Given the description of an element on the screen output the (x, y) to click on. 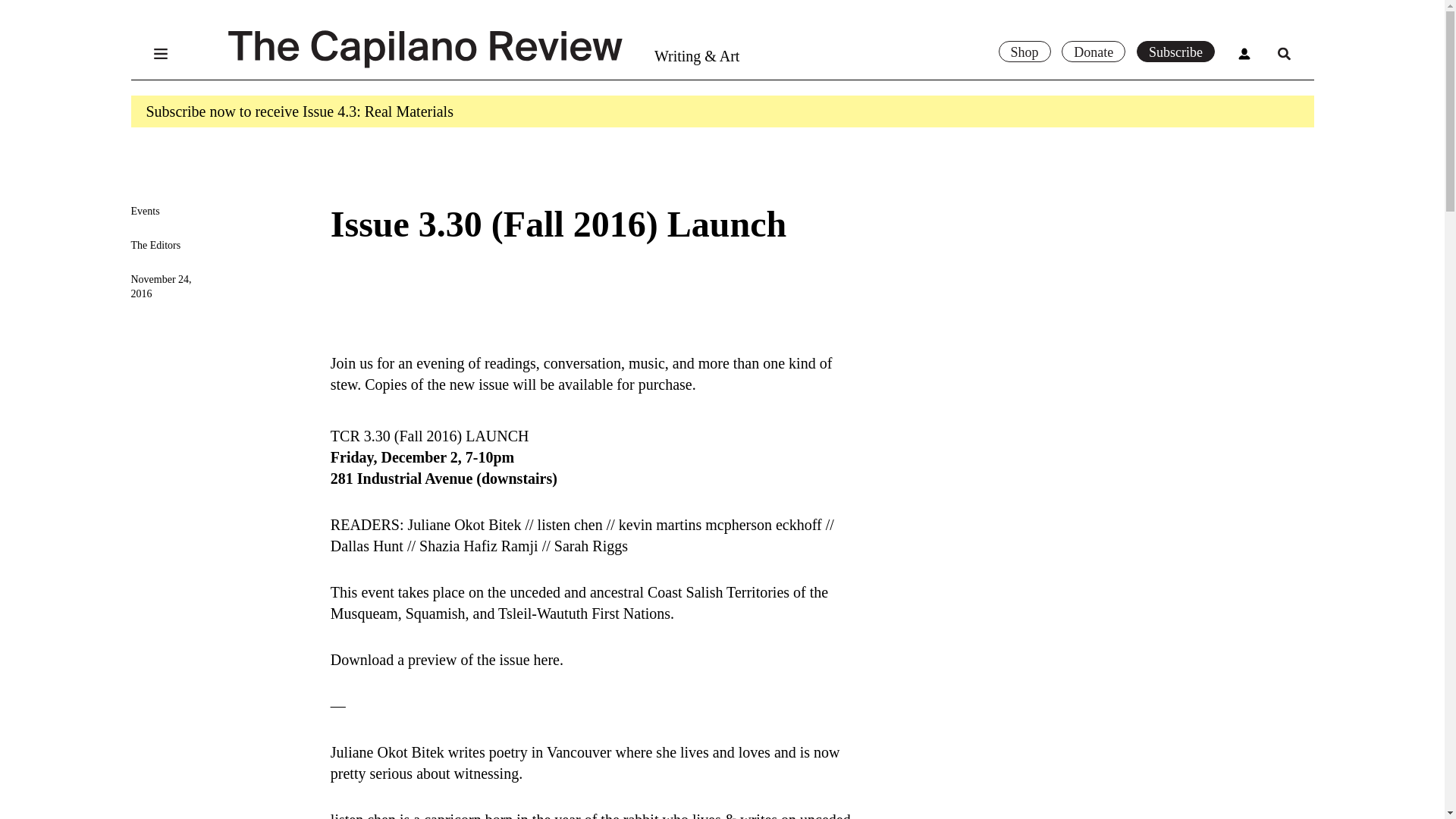
Shop (1023, 51)
Donate (1093, 51)
The Editors (155, 244)
Posts by The Editors (155, 244)
Subscribe now to receive Issue 4.3: Real Materials (298, 111)
here (546, 659)
Subscribe (1175, 51)
Events (144, 211)
